Given the description of an element on the screen output the (x, y) to click on. 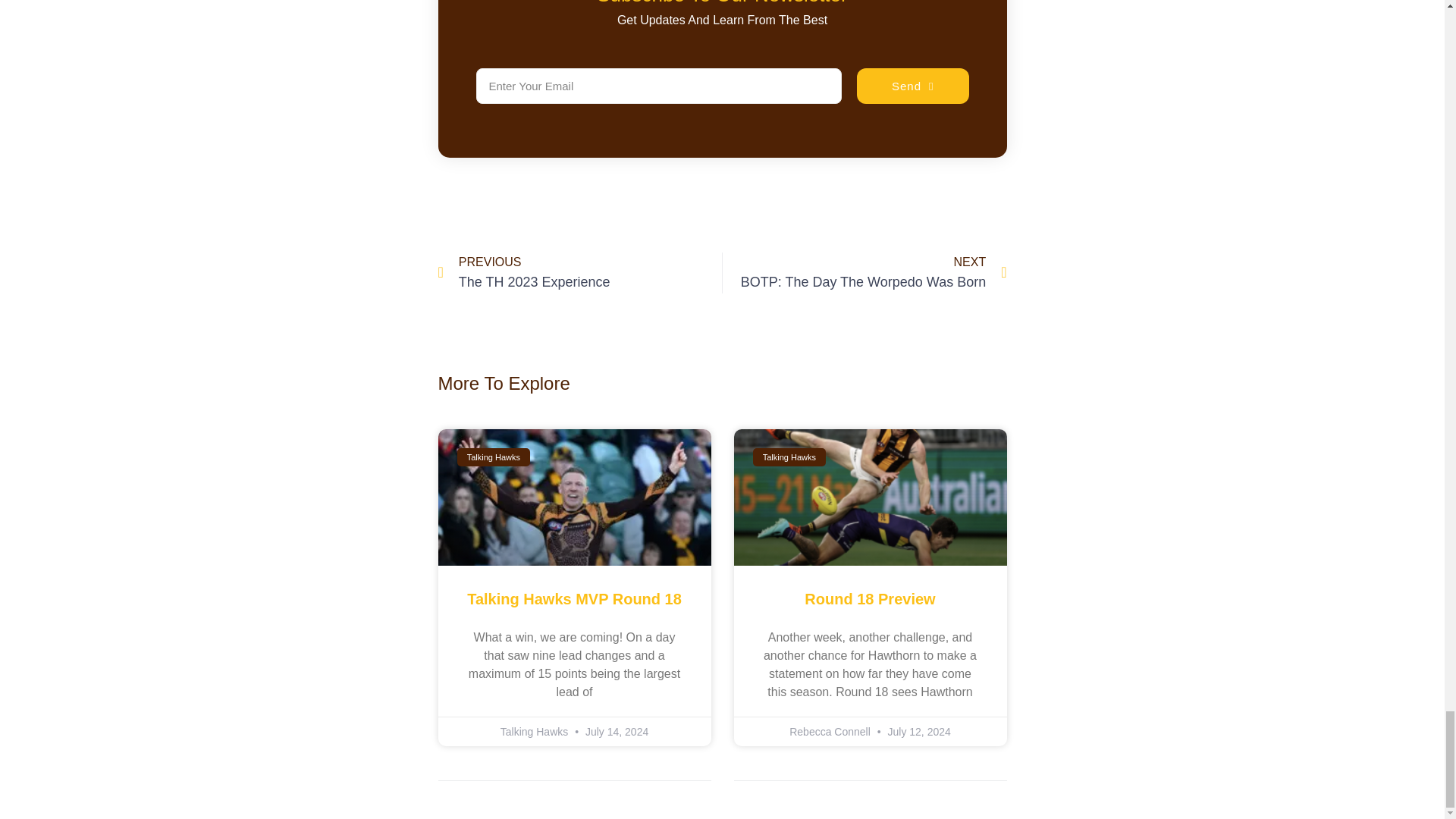
Round 18 Preview (869, 598)
Talking Hawks MVP Round 18 (864, 272)
Send (580, 272)
